Given the description of an element on the screen output the (x, y) to click on. 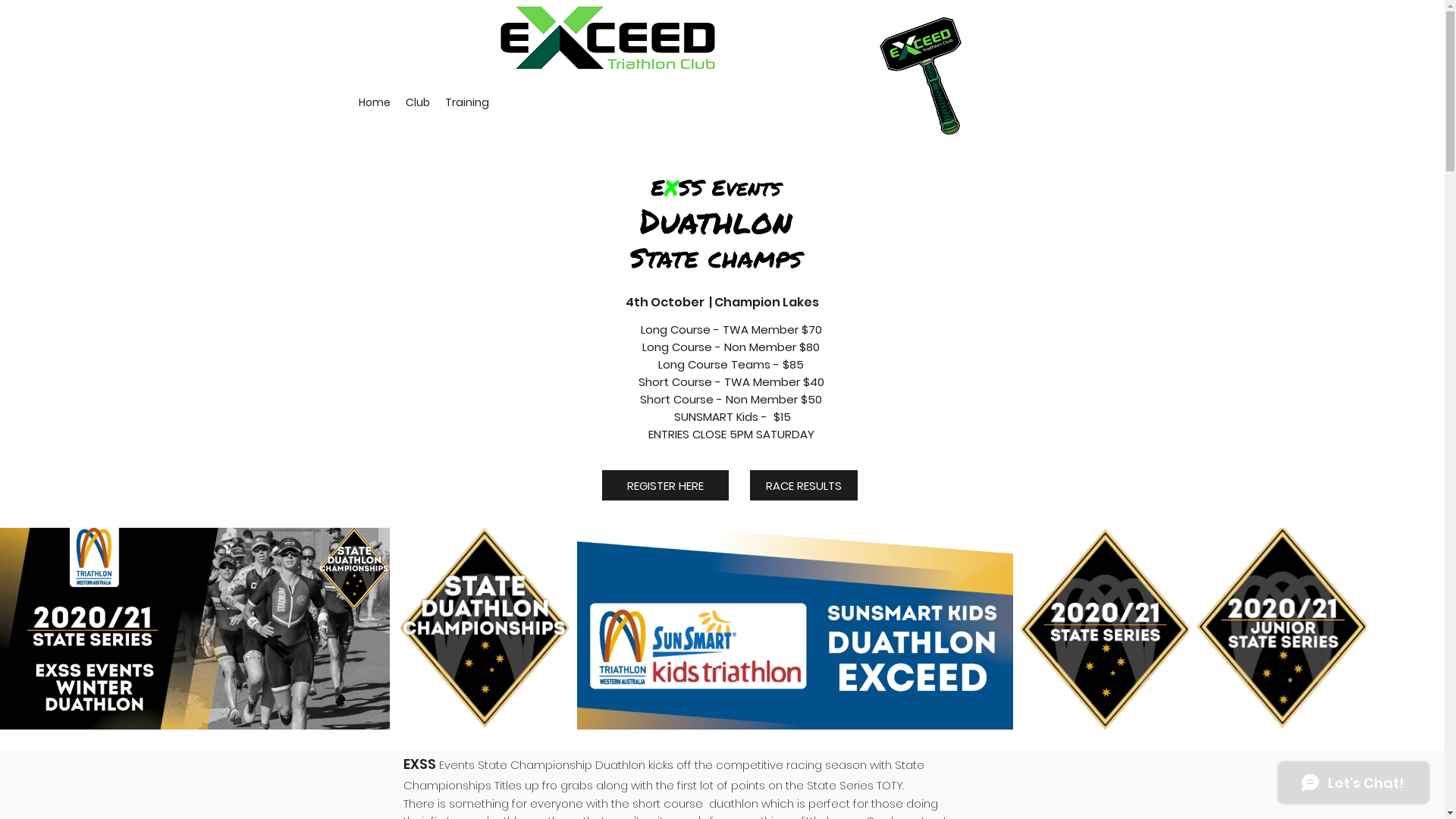
Screenshot 2023-07-10 at 7.47.25 pm.png Element type: hover (929, 74)
RACE RESULTS Element type: text (802, 485)
Training Element type: text (465, 102)
REGISTER HERE Element type: text (665, 485)
Club Element type: text (416, 102)
Home Element type: text (373, 102)
